Given the description of an element on the screen output the (x, y) to click on. 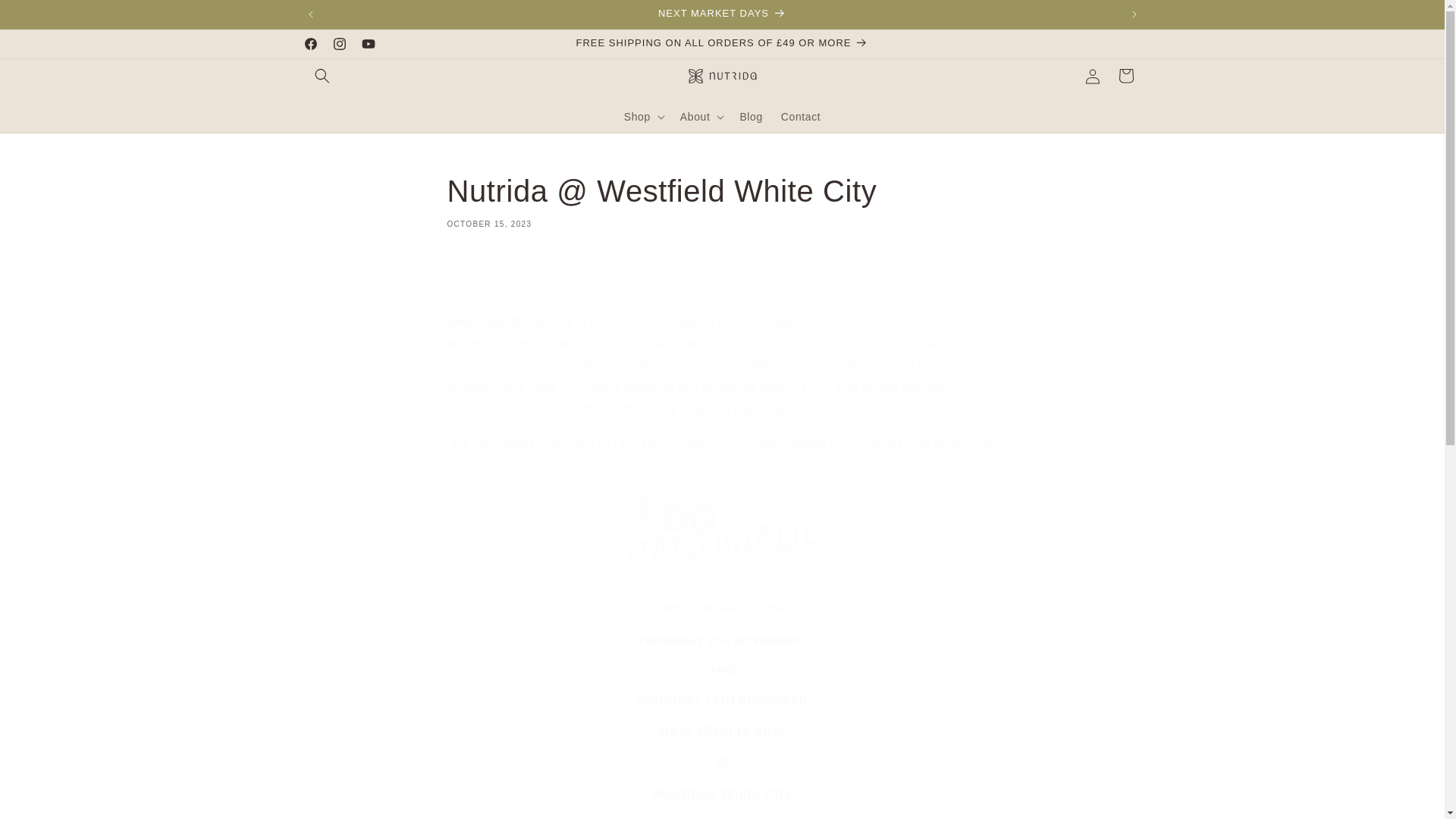
Facebook (309, 43)
I Do Handmade (721, 537)
NEXT MARKET DAYS (722, 14)
Skip to content (45, 17)
YouTube (367, 43)
Instagram (338, 43)
Share (721, 283)
